Given the description of an element on the screen output the (x, y) to click on. 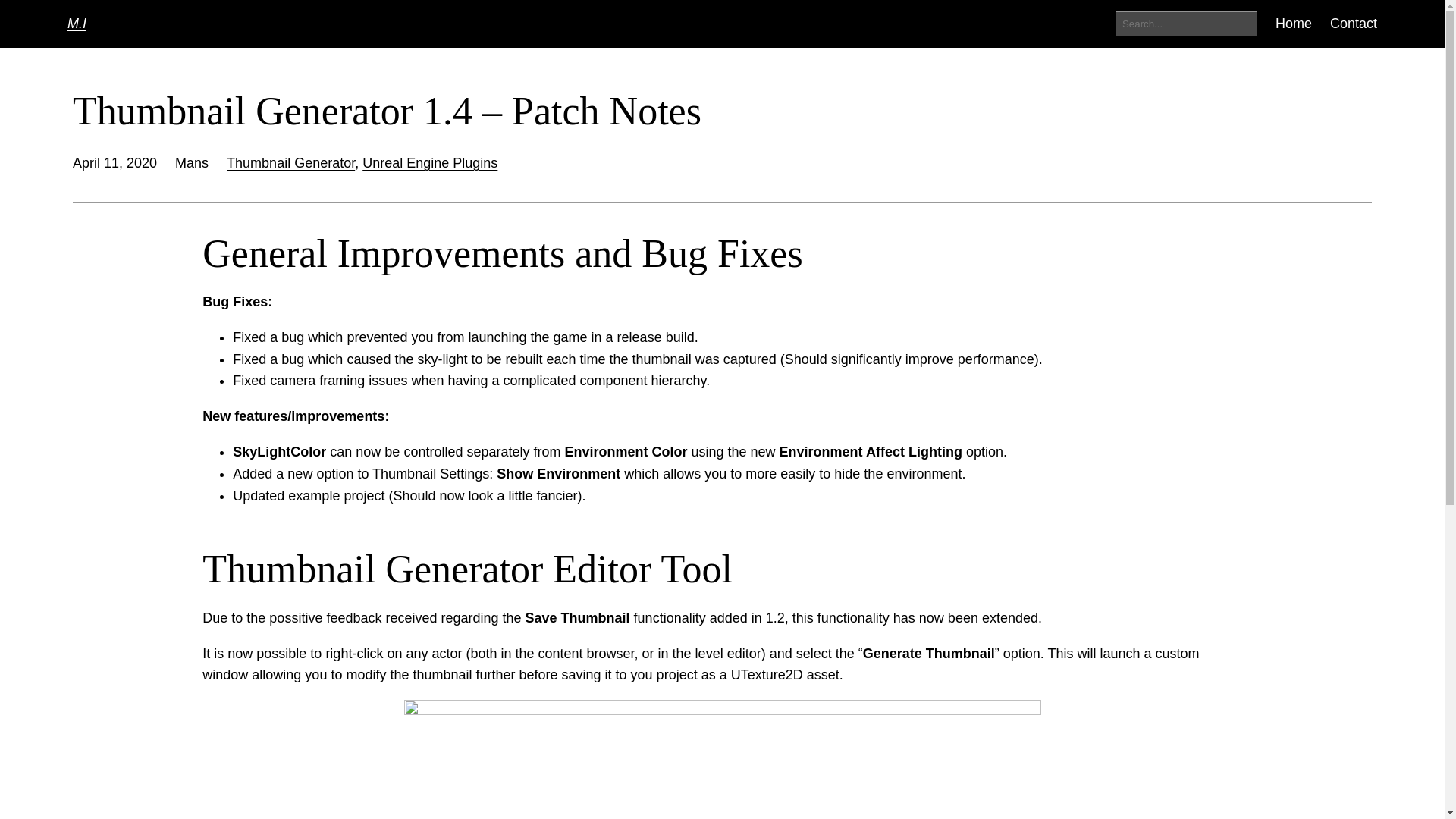
Unreal Engine Plugins (429, 162)
Home (1293, 24)
Thumbnail Generator (291, 162)
M.I (75, 23)
Contact (1353, 24)
